Given the description of an element on the screen output the (x, y) to click on. 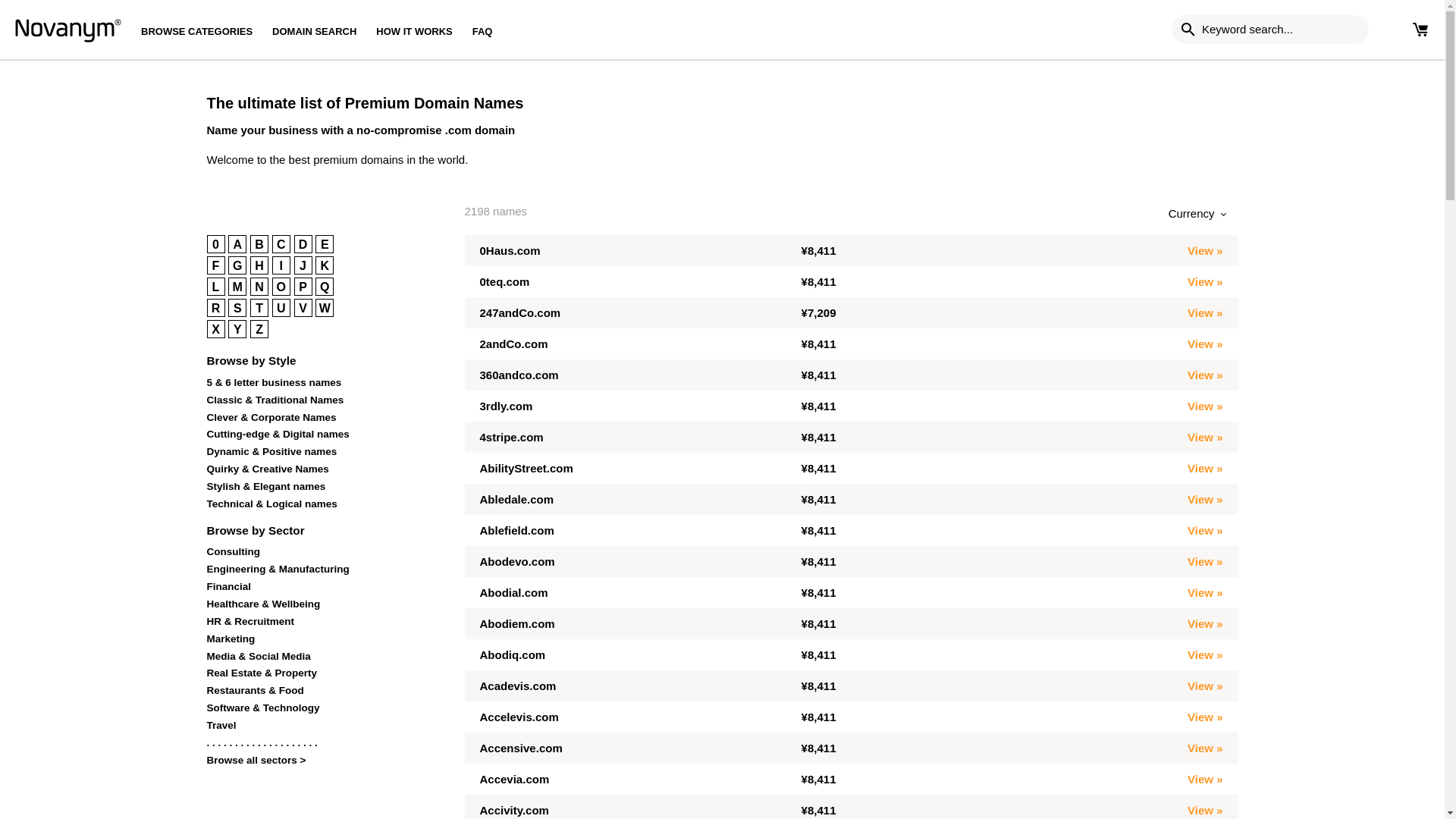
D (303, 244)
BROWSE CATEGORIES (201, 30)
H (258, 265)
J (303, 265)
E (324, 244)
HOW IT WORKS (413, 30)
P (303, 286)
DOMAIN SEARCH (314, 30)
A (237, 244)
U (280, 307)
0 (215, 244)
K (324, 265)
L (215, 286)
M (237, 286)
C (280, 244)
